Given the description of an element on the screen output the (x, y) to click on. 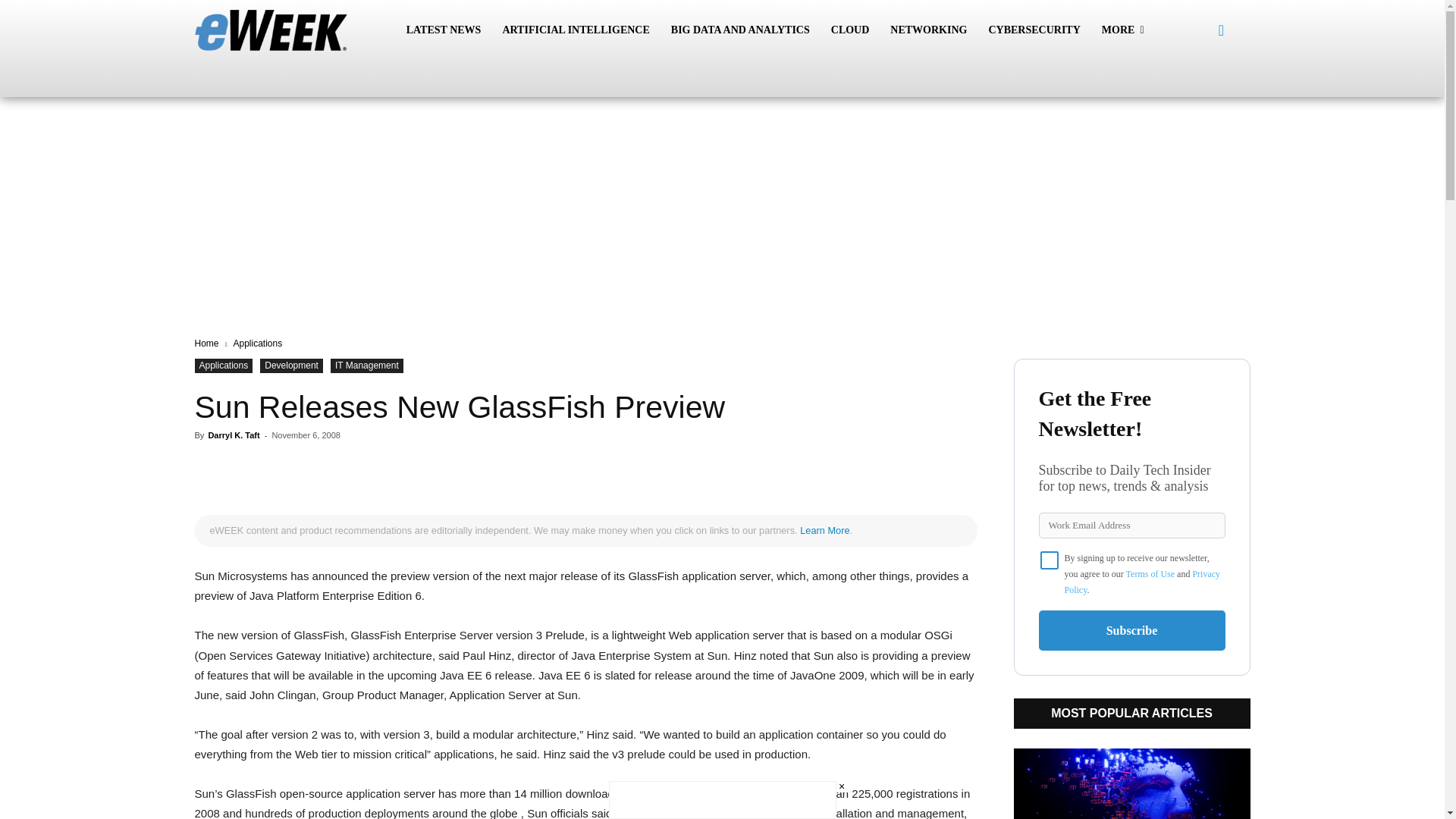
on (1049, 560)
